Given the description of an element on the screen output the (x, y) to click on. 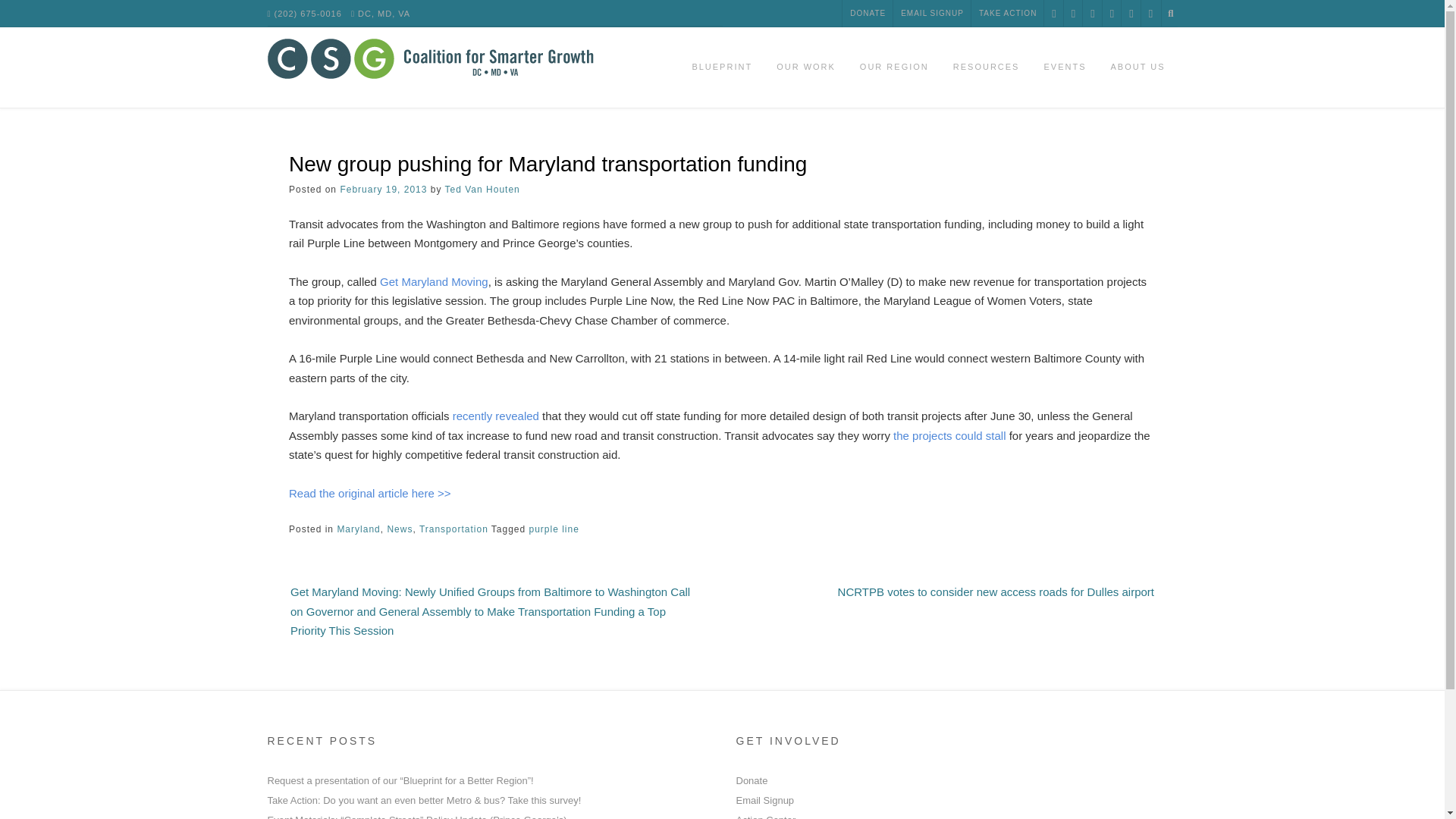
EMAIL SIGNUP (932, 13)
BLUEPRINT (721, 67)
OUR REGION (893, 67)
OUR WORK (805, 67)
DONATE (868, 13)
TAKE ACTION (1007, 13)
